Given the description of an element on the screen output the (x, y) to click on. 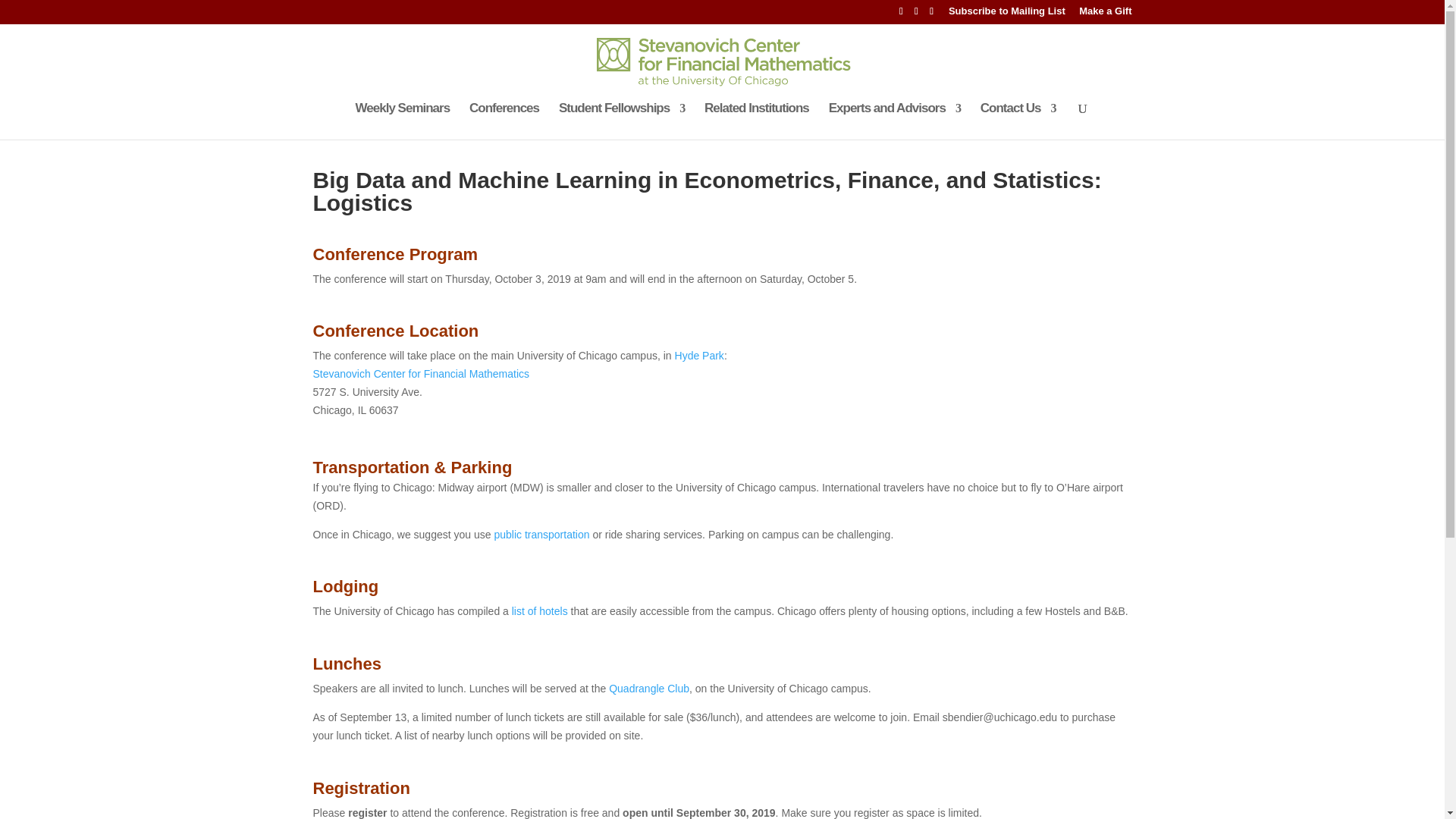
Subscribe to Mailing List (1007, 14)
Related Institutions (756, 121)
Weekly Seminars (402, 121)
 Quadrangle Club (646, 688)
Contact Us (1018, 121)
Conferences (503, 121)
list of hotels (539, 611)
Experts and Advisors (894, 121)
Make a Gift (1104, 14)
Hyde Park (699, 355)
